Given the description of an element on the screen output the (x, y) to click on. 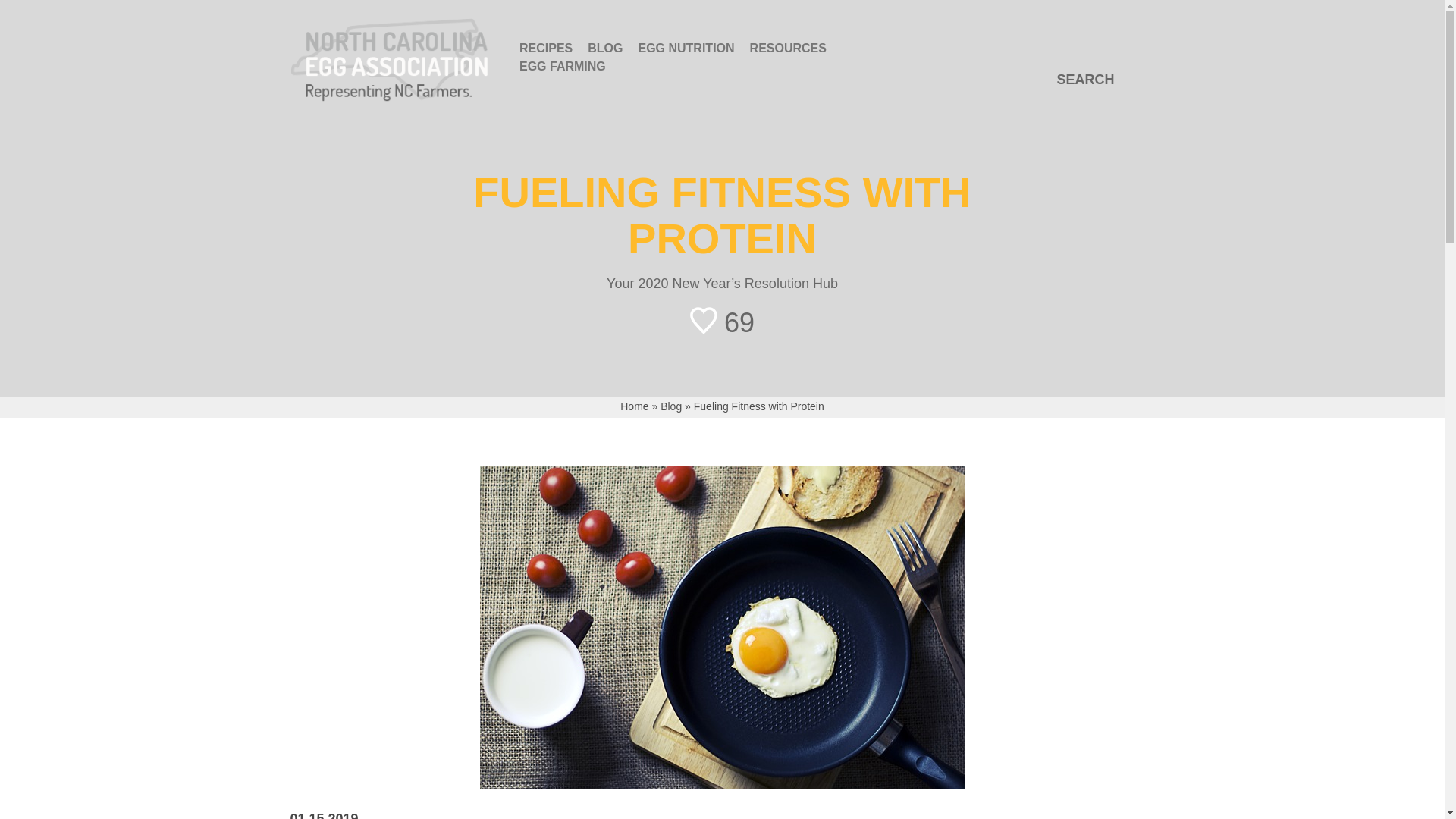
EGG FARMING (562, 66)
RESOURCES (788, 48)
BLOG (604, 48)
RECIPES (545, 48)
EGG NUTRITION (685, 48)
Like (721, 320)
